Given the description of an element on the screen output the (x, y) to click on. 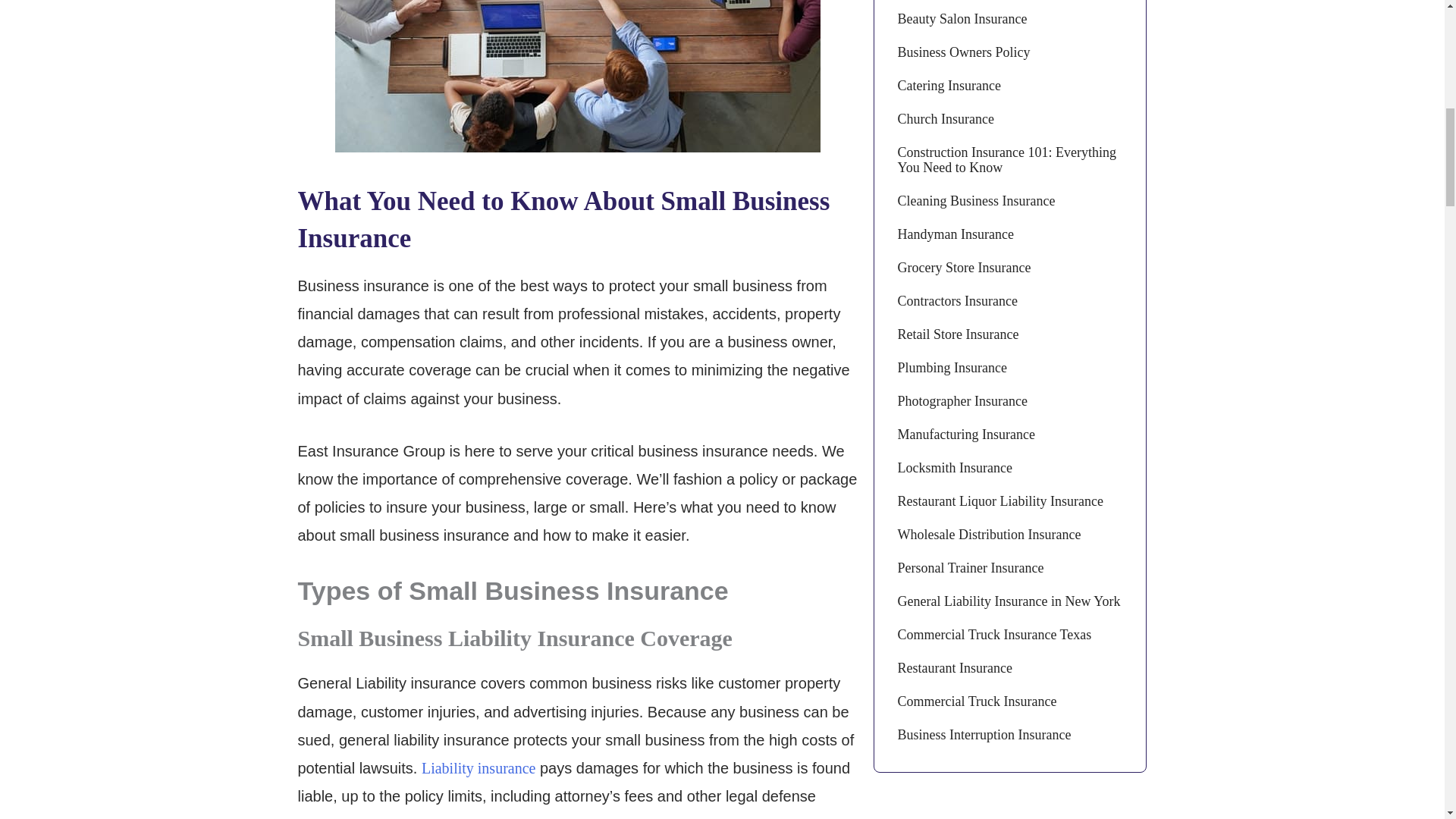
Business Insurance 1 (577, 76)
